Given the description of an element on the screen output the (x, y) to click on. 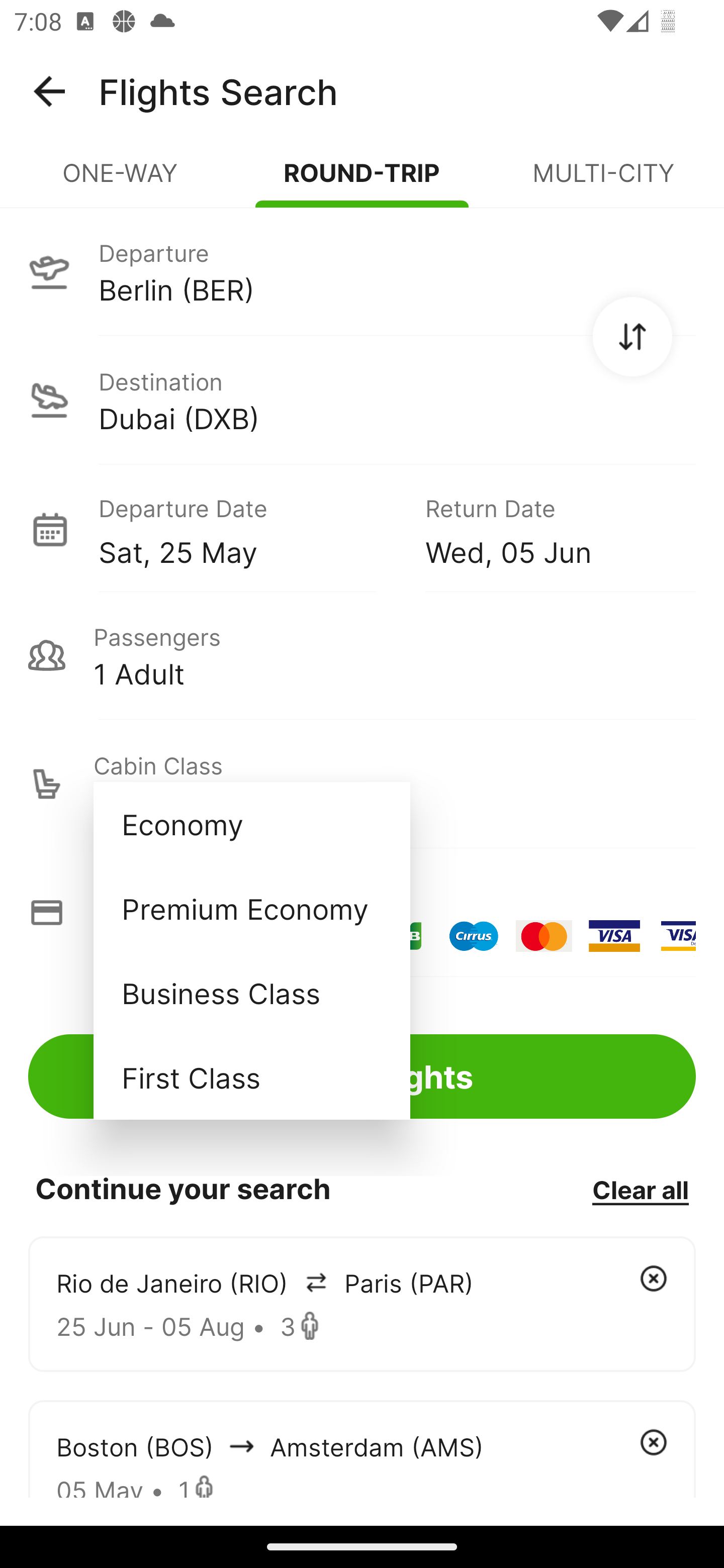
Economy (251, 824)
Premium Economy (251, 908)
Business Class (251, 992)
First Class (251, 1076)
